Given the description of an element on the screen output the (x, y) to click on. 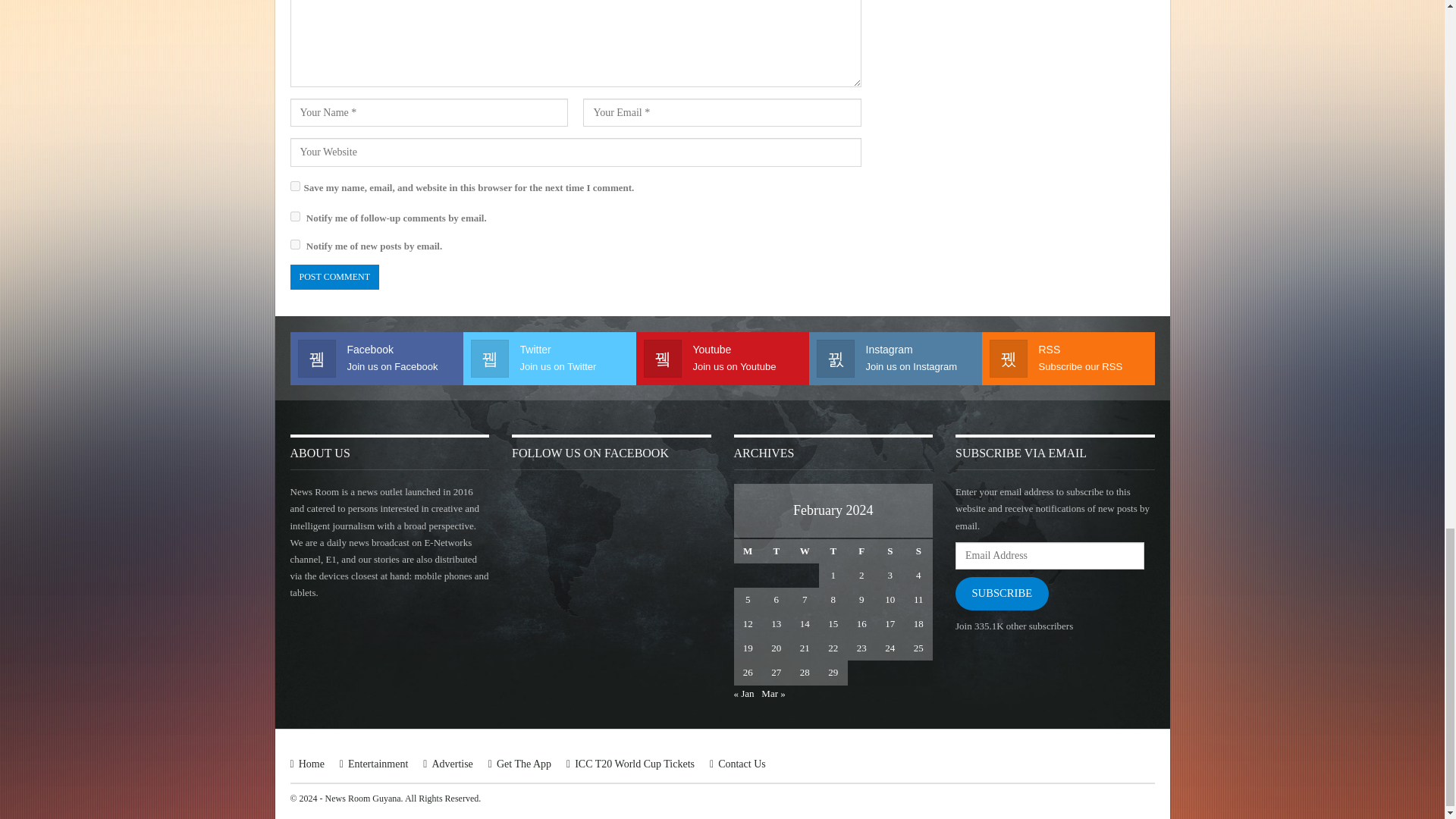
Post Comment (333, 276)
subscribe (294, 216)
subscribe (294, 244)
yes (294, 185)
